Given the description of an element on the screen output the (x, y) to click on. 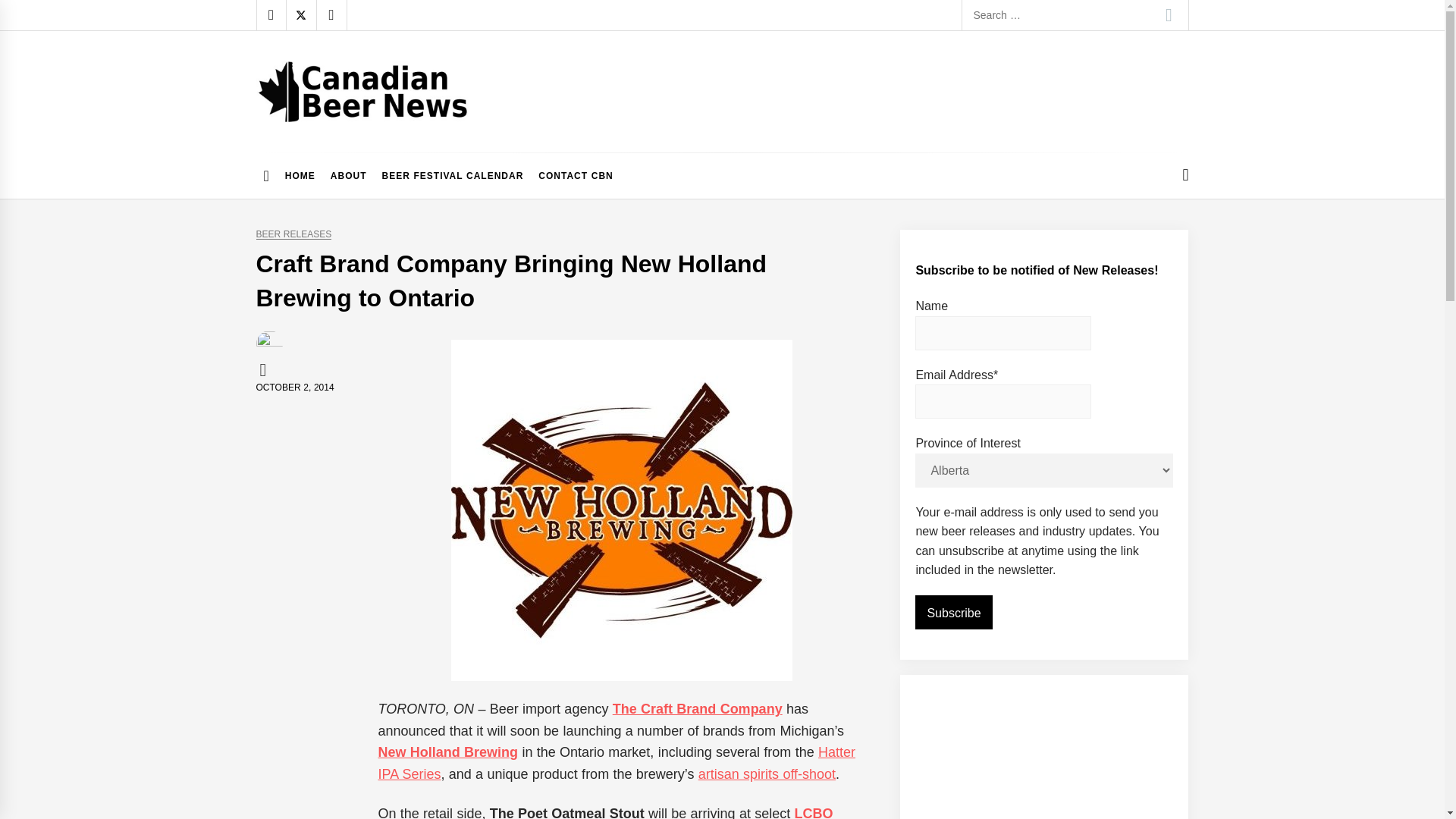
ABOUT (348, 176)
New Holland Brewing (447, 752)
Canadian Beer News (384, 136)
CBN (265, 368)
Home (267, 176)
Search (1169, 15)
Search (1169, 15)
The Craft Brand Company (697, 708)
BEER RELEASES (293, 234)
LCBO (813, 812)
Subscribe (953, 612)
artisan spirits off-shoot (766, 774)
BEER FESTIVAL CALENDAR (452, 176)
Search (1169, 15)
HOME (300, 176)
